Given the description of an element on the screen output the (x, y) to click on. 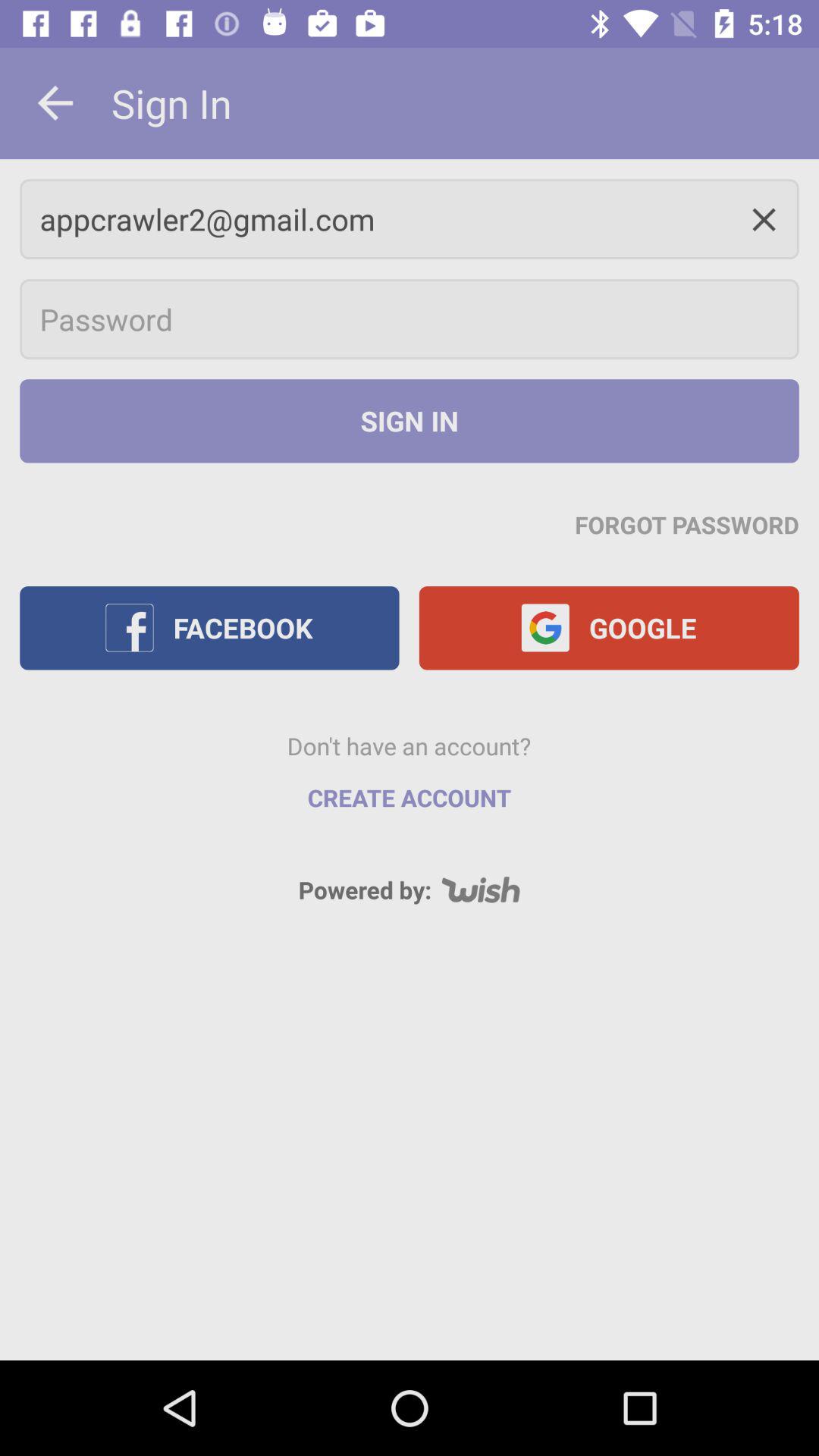
flip to the create account item (409, 797)
